Given the description of an element on the screen output the (x, y) to click on. 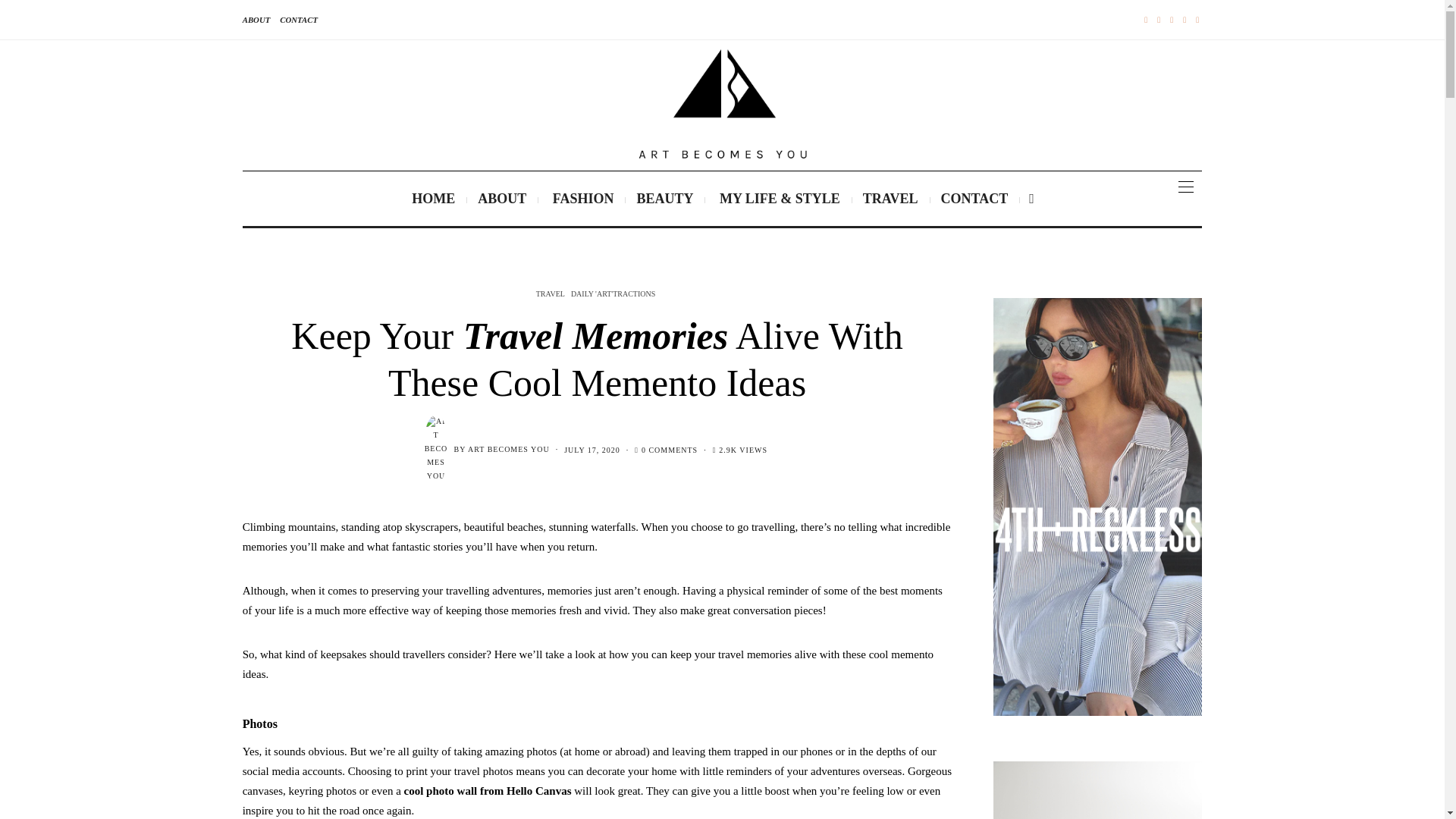
contact  (298, 19)
Posts by Art Becomes You (508, 449)
My outfits and shenanigans (777, 198)
ABOUT (256, 19)
ABOUT (501, 198)
CONTACT (298, 19)
HOME (432, 198)
Make-up, skin care, hair and beauty (664, 198)
FASHION (580, 198)
